Given the description of an element on the screen output the (x, y) to click on. 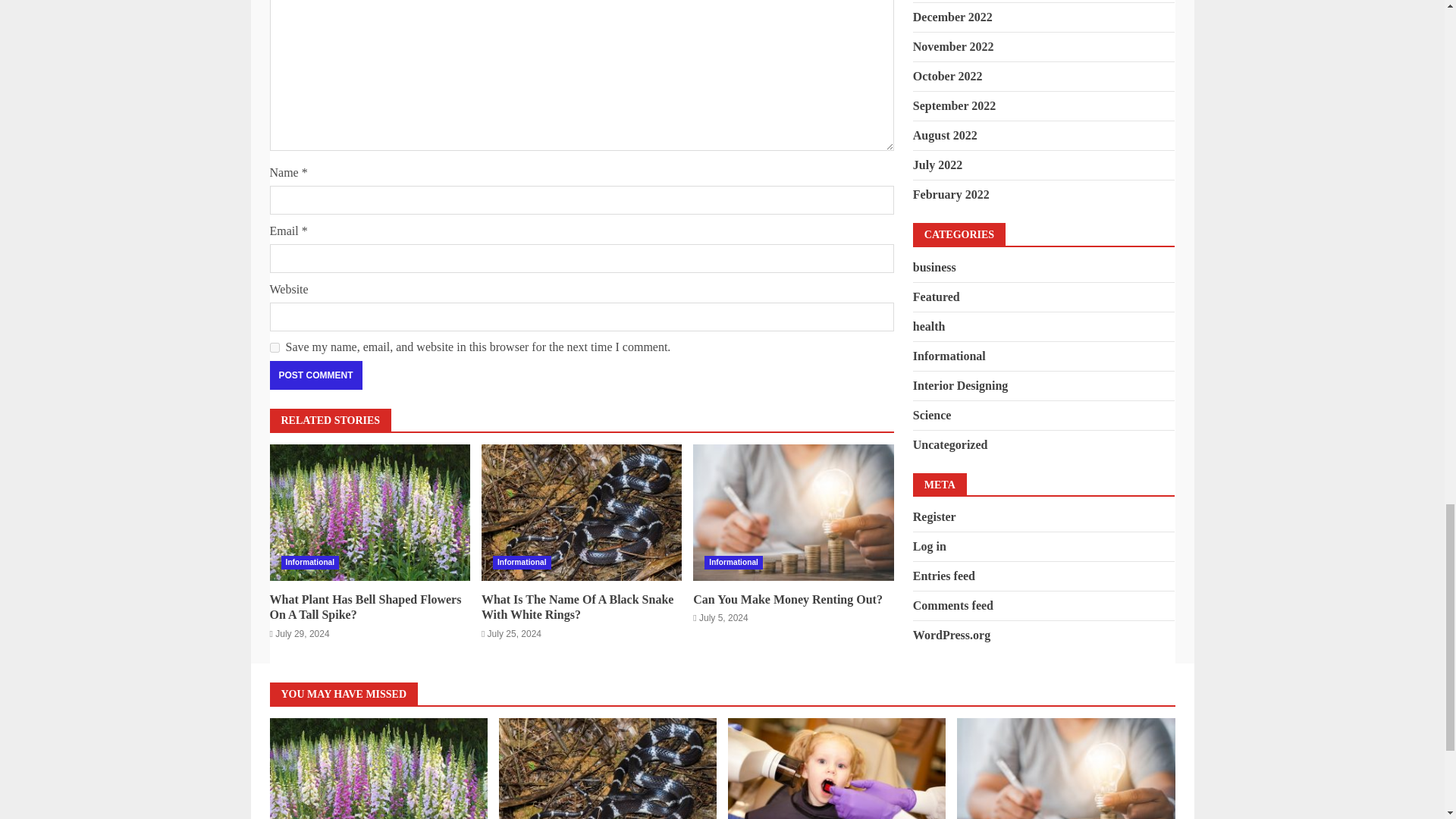
yes (274, 347)
Post Comment (315, 375)
